Given the description of an element on the screen output the (x, y) to click on. 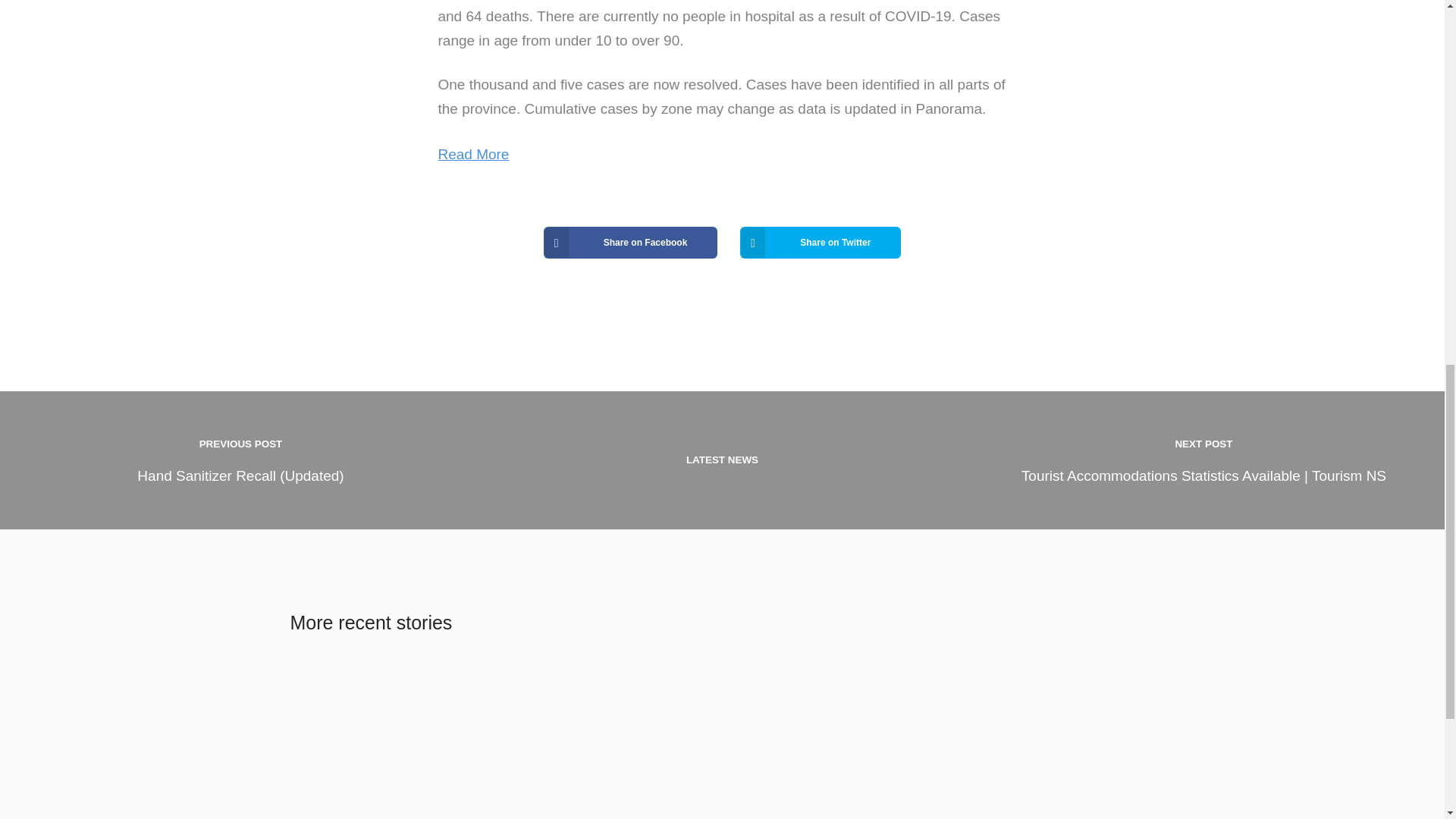
Share on Twitter (820, 242)
Share on Facebook (630, 242)
Read More (473, 154)
LATEST NEWS (721, 460)
